Given the description of an element on the screen output the (x, y) to click on. 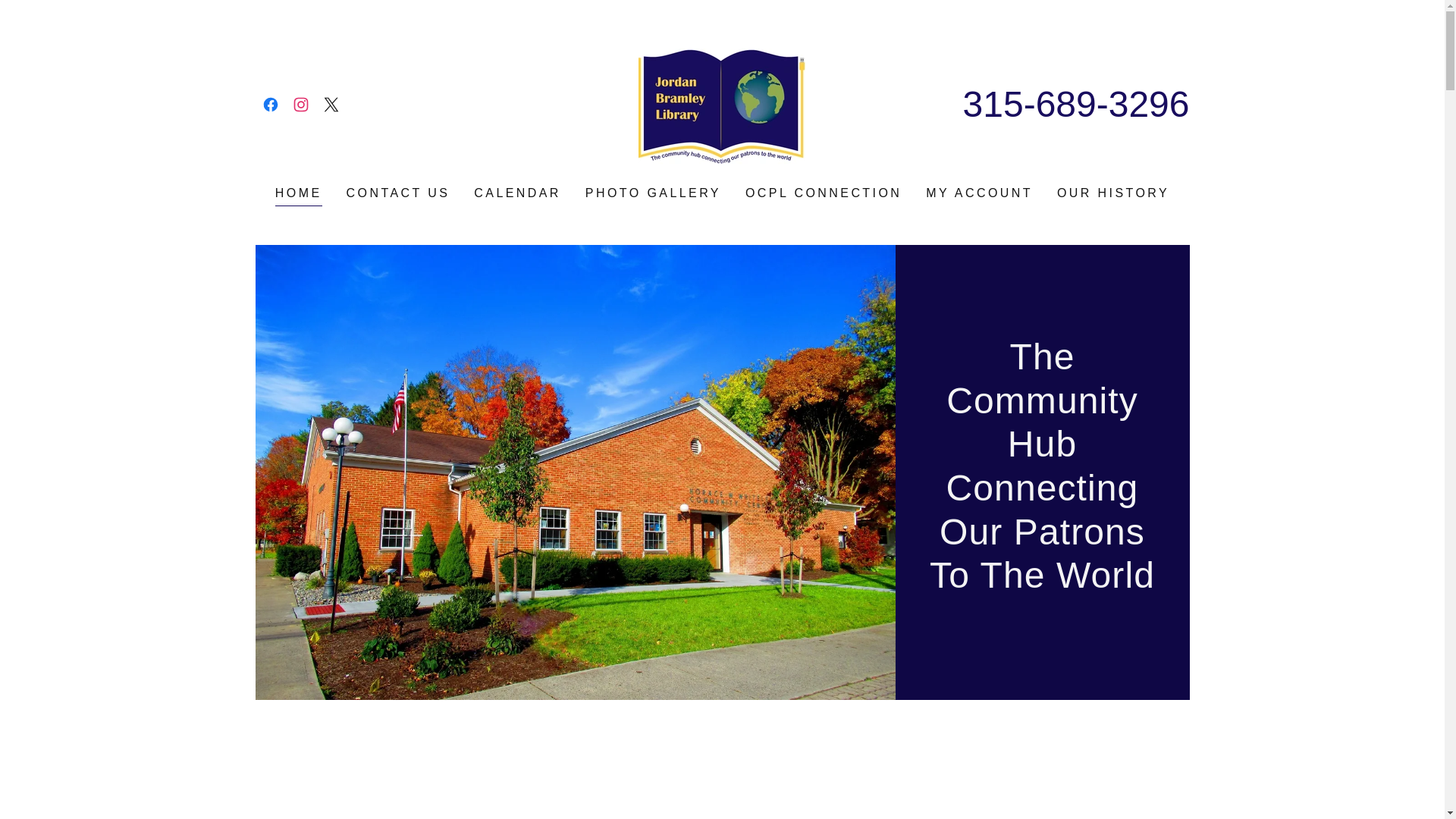
PHOTO GALLERY (652, 193)
CONTACT US (398, 193)
OCPL CONNECTION (823, 193)
OUR HISTORY (1112, 193)
MY ACCOUNT (978, 193)
Jordan Bramley Library (722, 102)
CALENDAR (517, 193)
315-689-3296 (1075, 103)
HOME (298, 195)
